Given the description of an element on the screen output the (x, y) to click on. 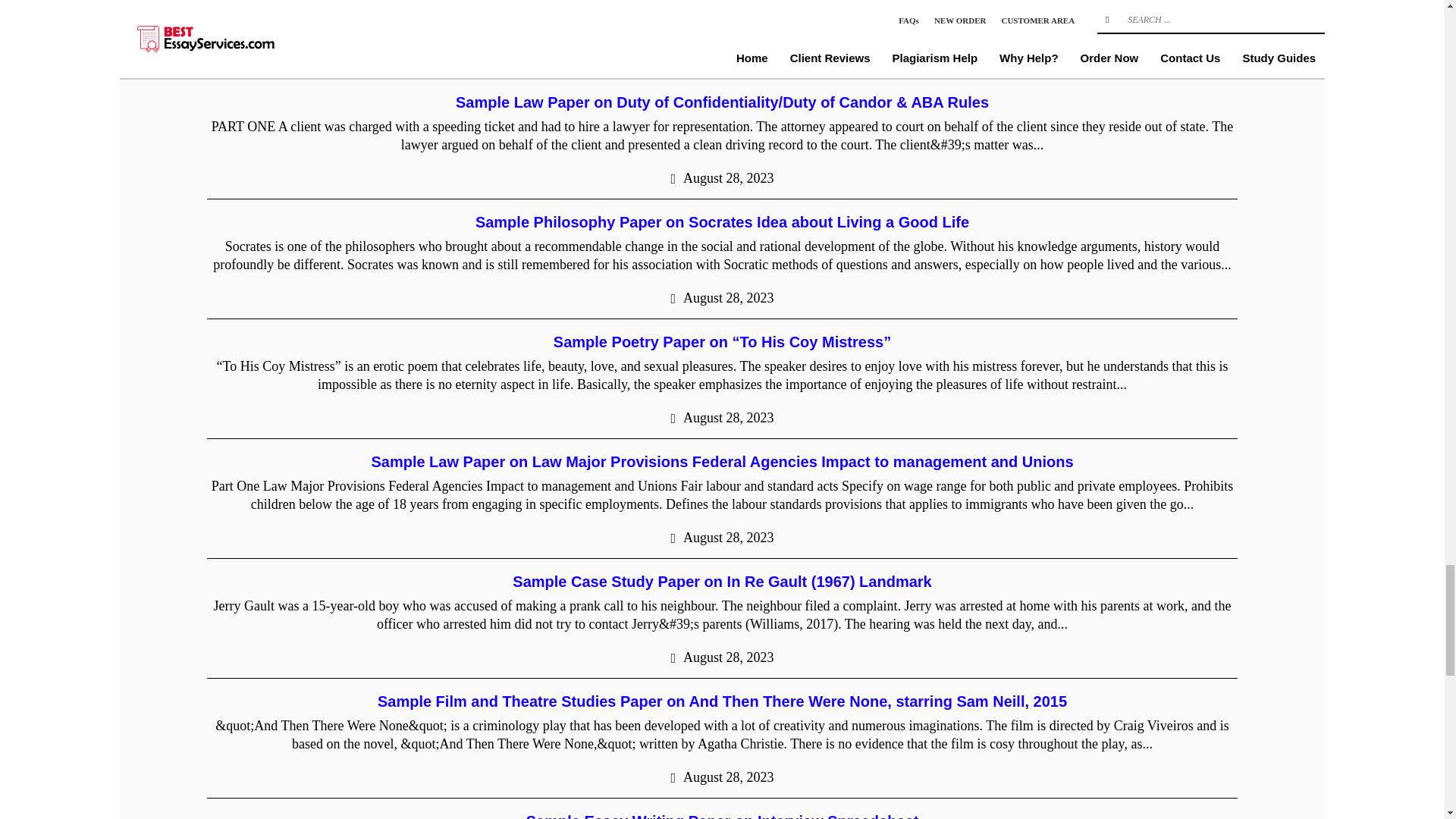
Sample Essay Writing Paper on Interview Spreadsheet (721, 816)
